Given the description of an element on the screen output the (x, y) to click on. 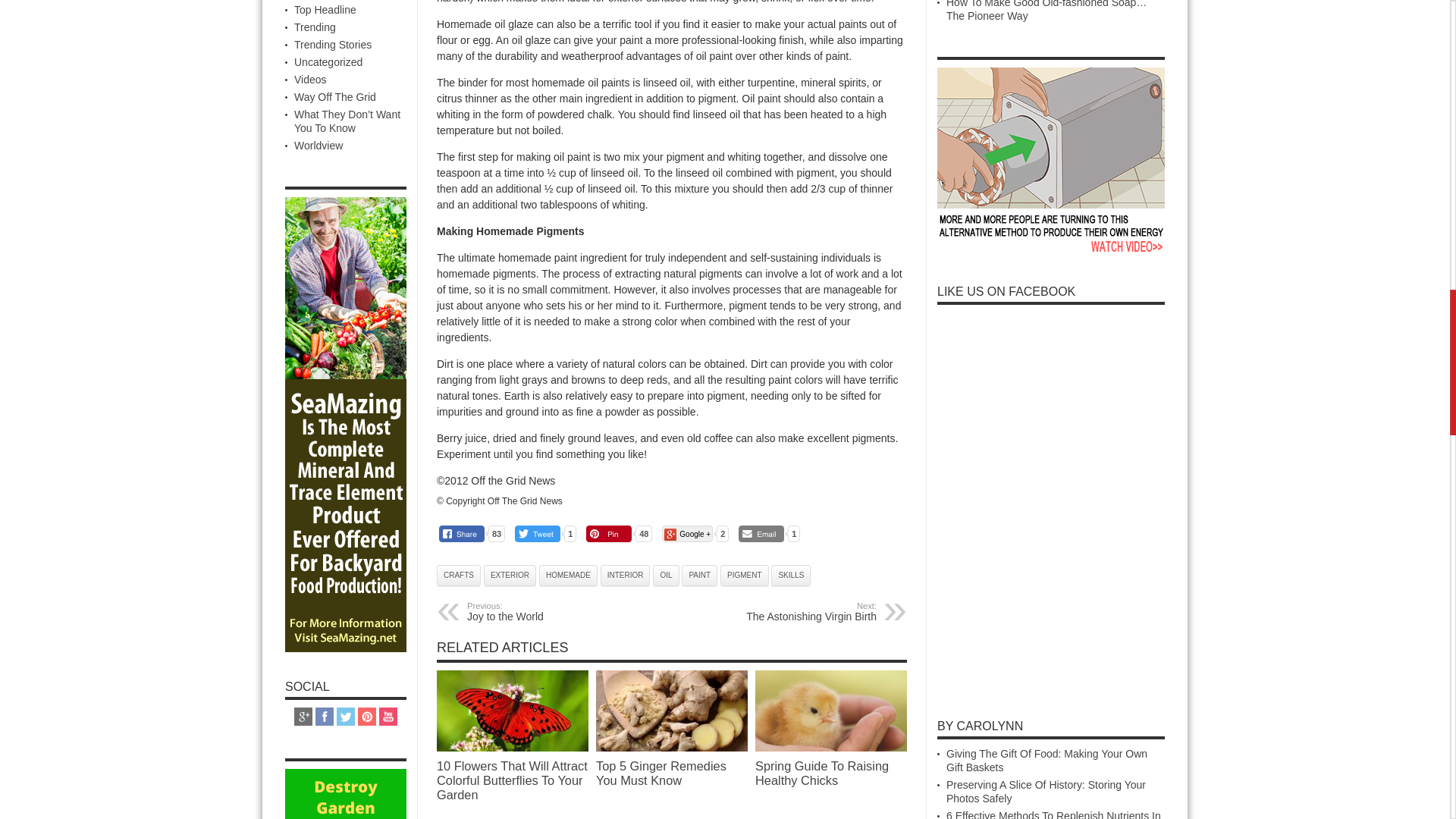
Top 5 Ginger Remedies You Must Know (671, 710)
HOMEMADE (567, 575)
Permalink to Top 5 Ginger Remedies You Must Know (671, 747)
Permalink to Spring Guide To Raising Healthy Chicks (821, 773)
OIL (665, 575)
Permalink to Top 5 Ginger Remedies You Must Know (660, 773)
CRAFTS (458, 575)
Spring Guide To Raising Healthy Chicks (831, 710)
INTERIOR (624, 575)
Permalink to Spring Guide To Raising Healthy Chicks (831, 747)
PAINT (699, 575)
EXTERIOR (509, 575)
